Given the description of an element on the screen output the (x, y) to click on. 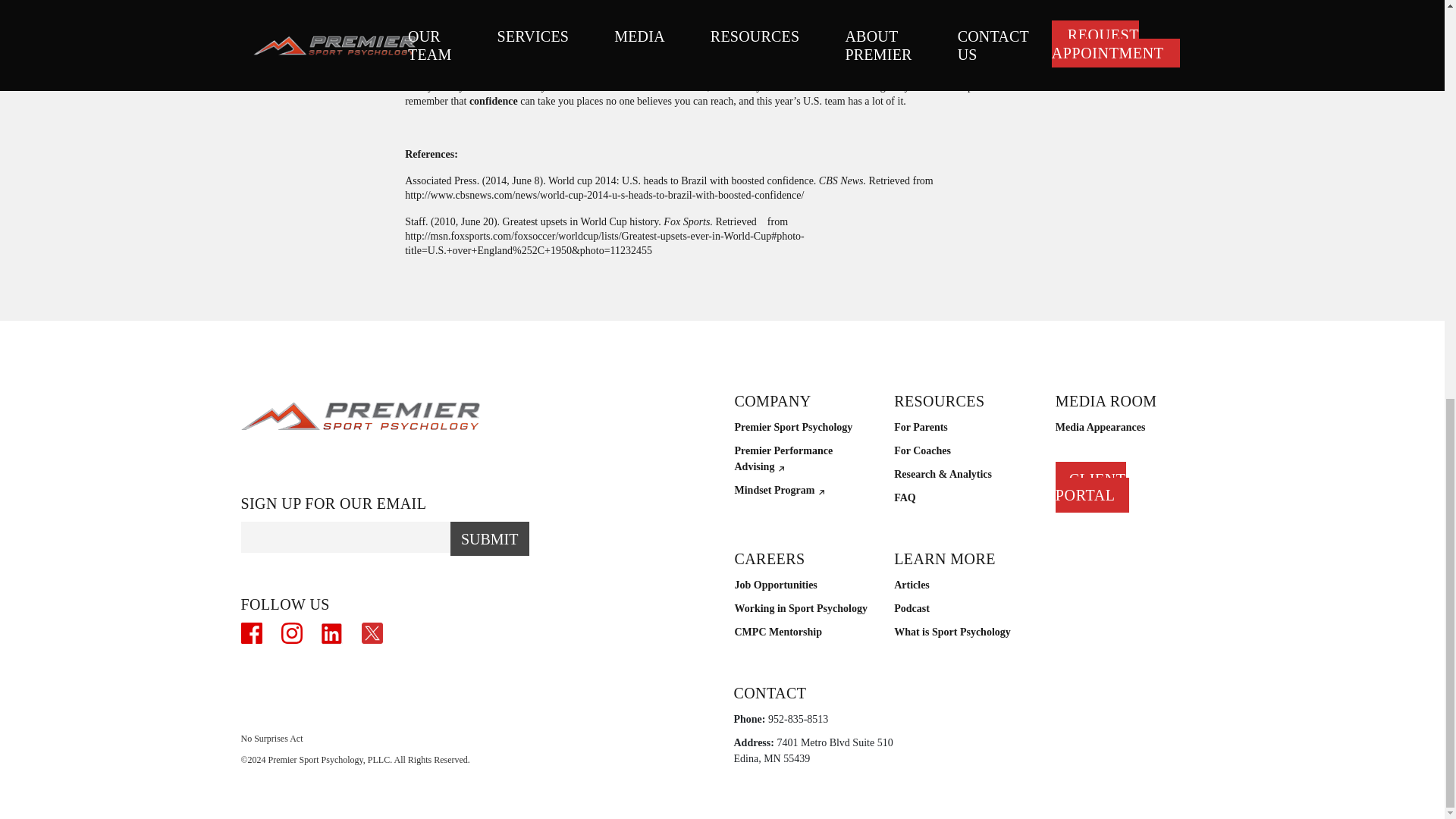
Submit (489, 538)
